Given the description of an element on the screen output the (x, y) to click on. 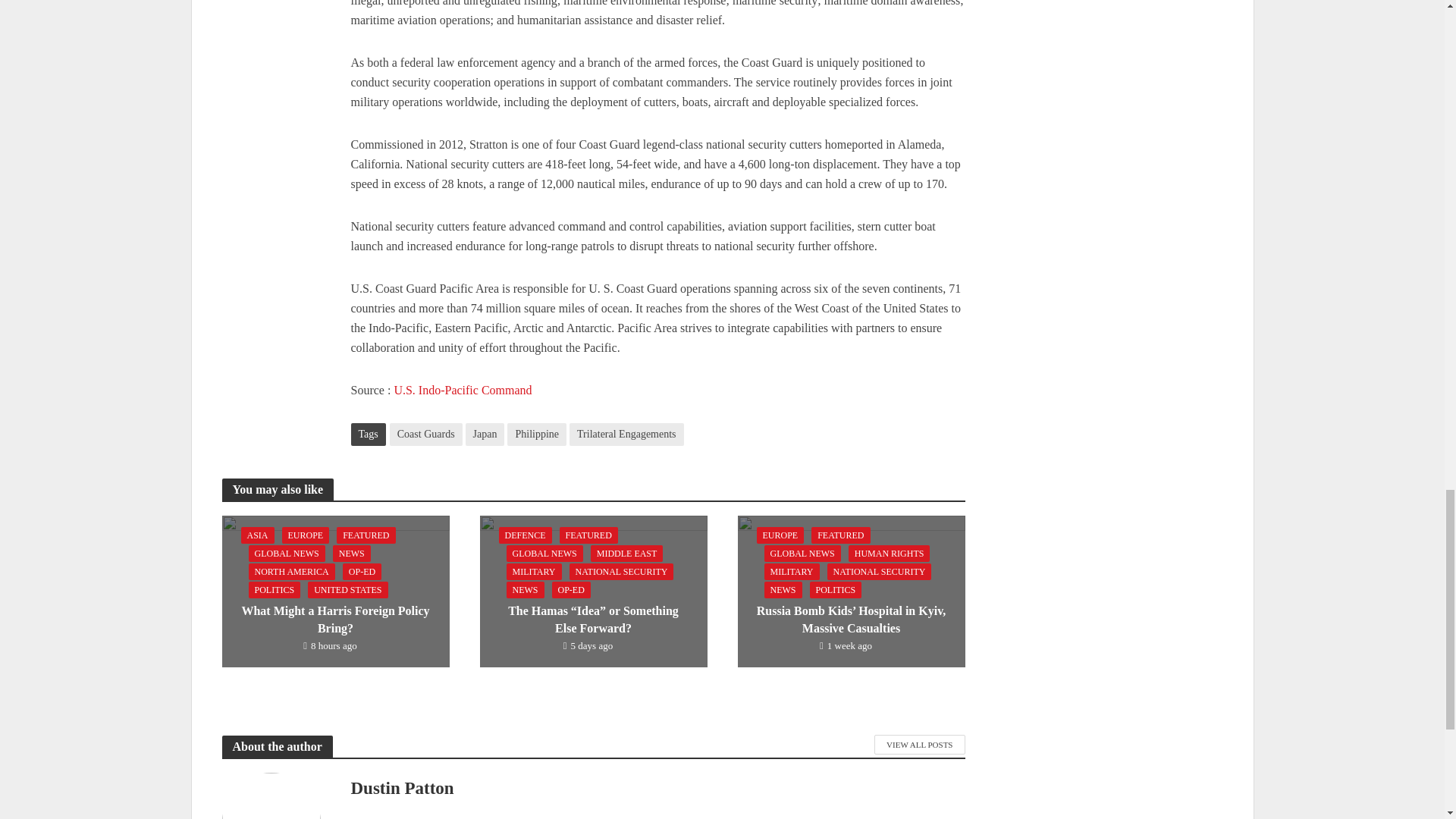
What Might a Harris Foreign Policy Bring? (334, 590)
